Given the description of an element on the screen output the (x, y) to click on. 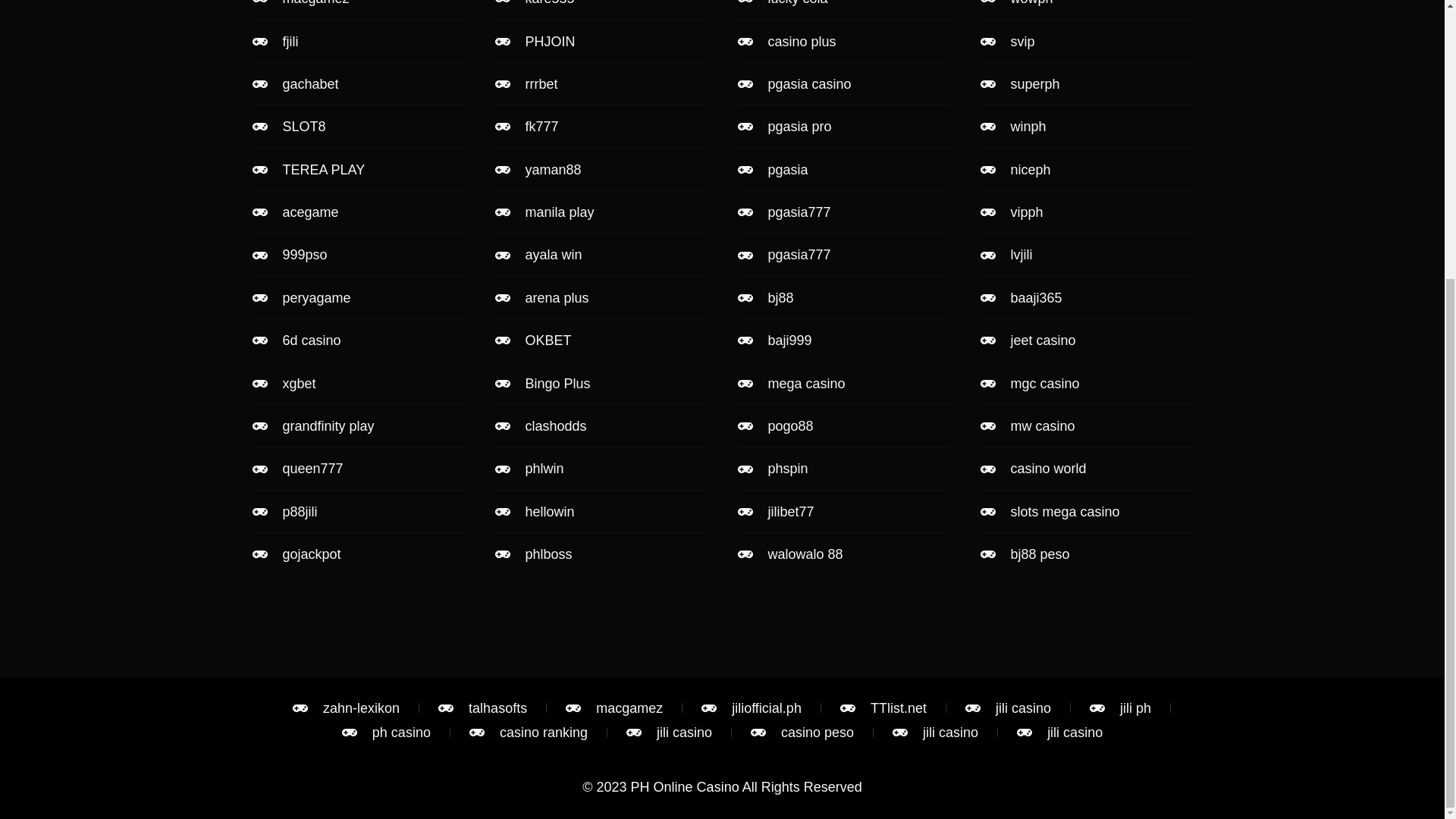
Bingo Plus (600, 383)
phlboss (600, 554)
kare555 (600, 5)
phlwin (600, 468)
xgbet (357, 383)
macgamez (357, 5)
manila play (600, 211)
SLOT8 (357, 126)
gachabet (357, 84)
999pso (357, 254)
